Given the description of an element on the screen output the (x, y) to click on. 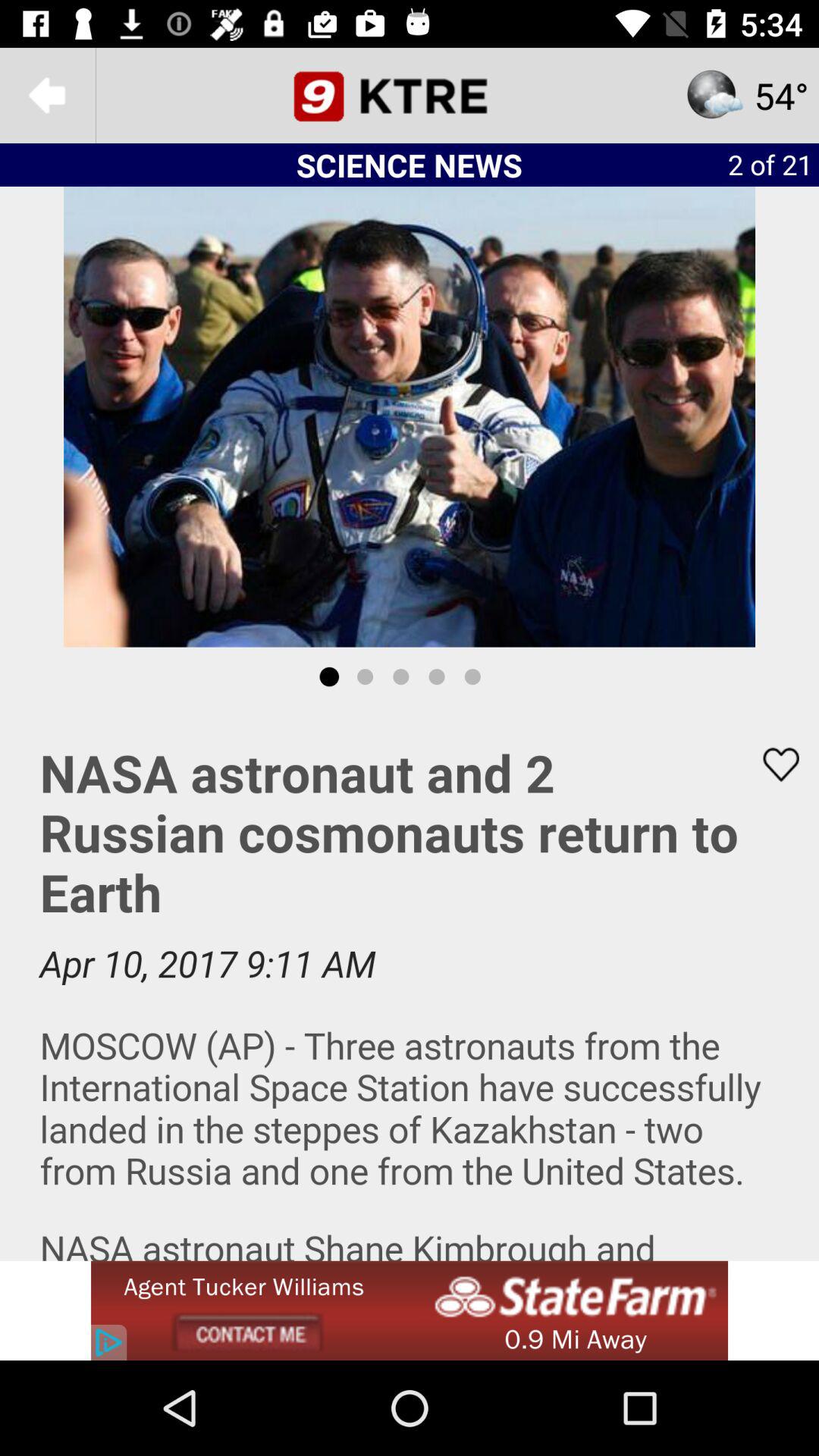
title news (409, 95)
